Given the description of an element on the screen output the (x, y) to click on. 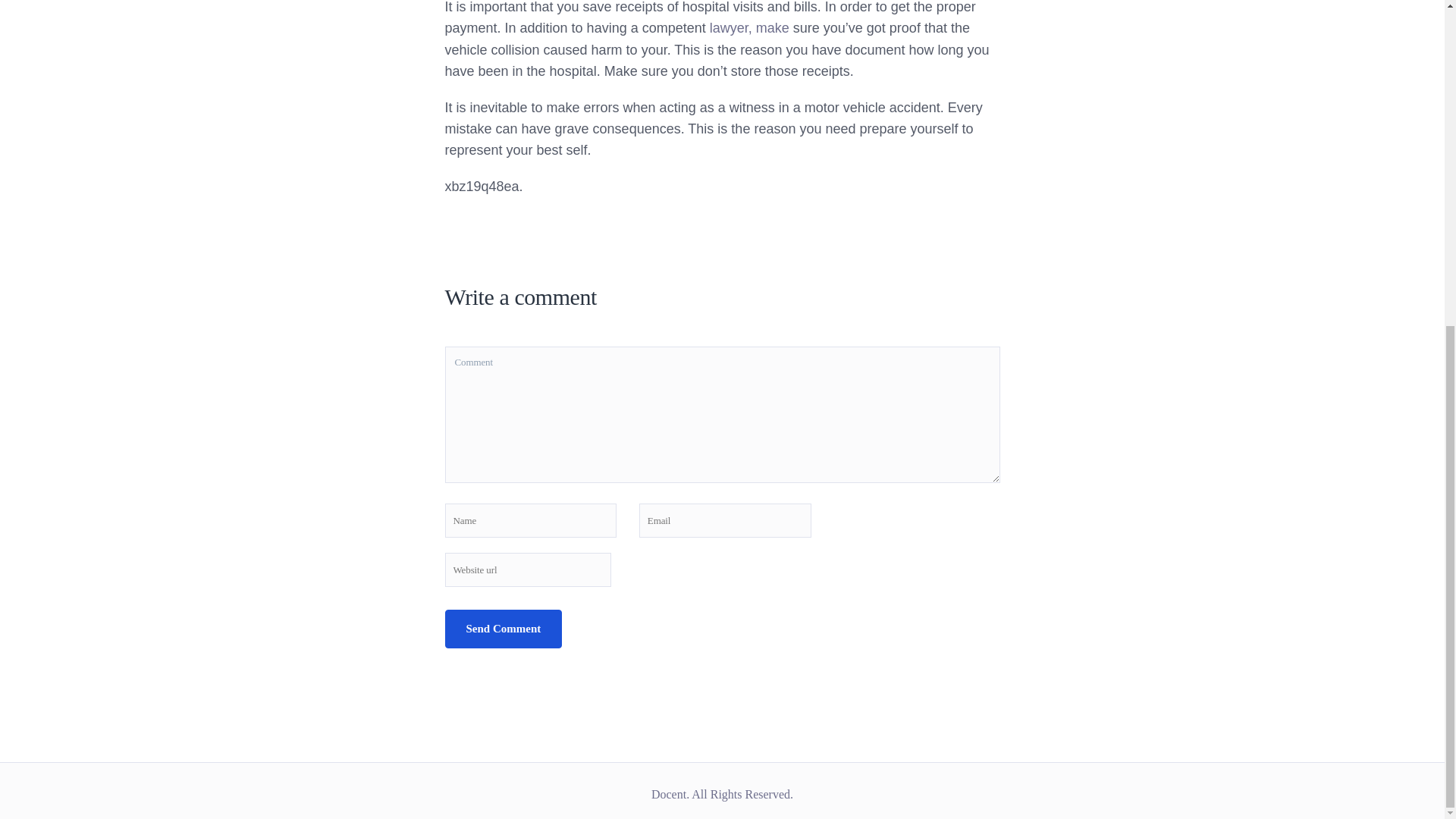
Send Comment (503, 628)
lawyer, make (749, 28)
Send Comment (503, 628)
